Given the description of an element on the screen output the (x, y) to click on. 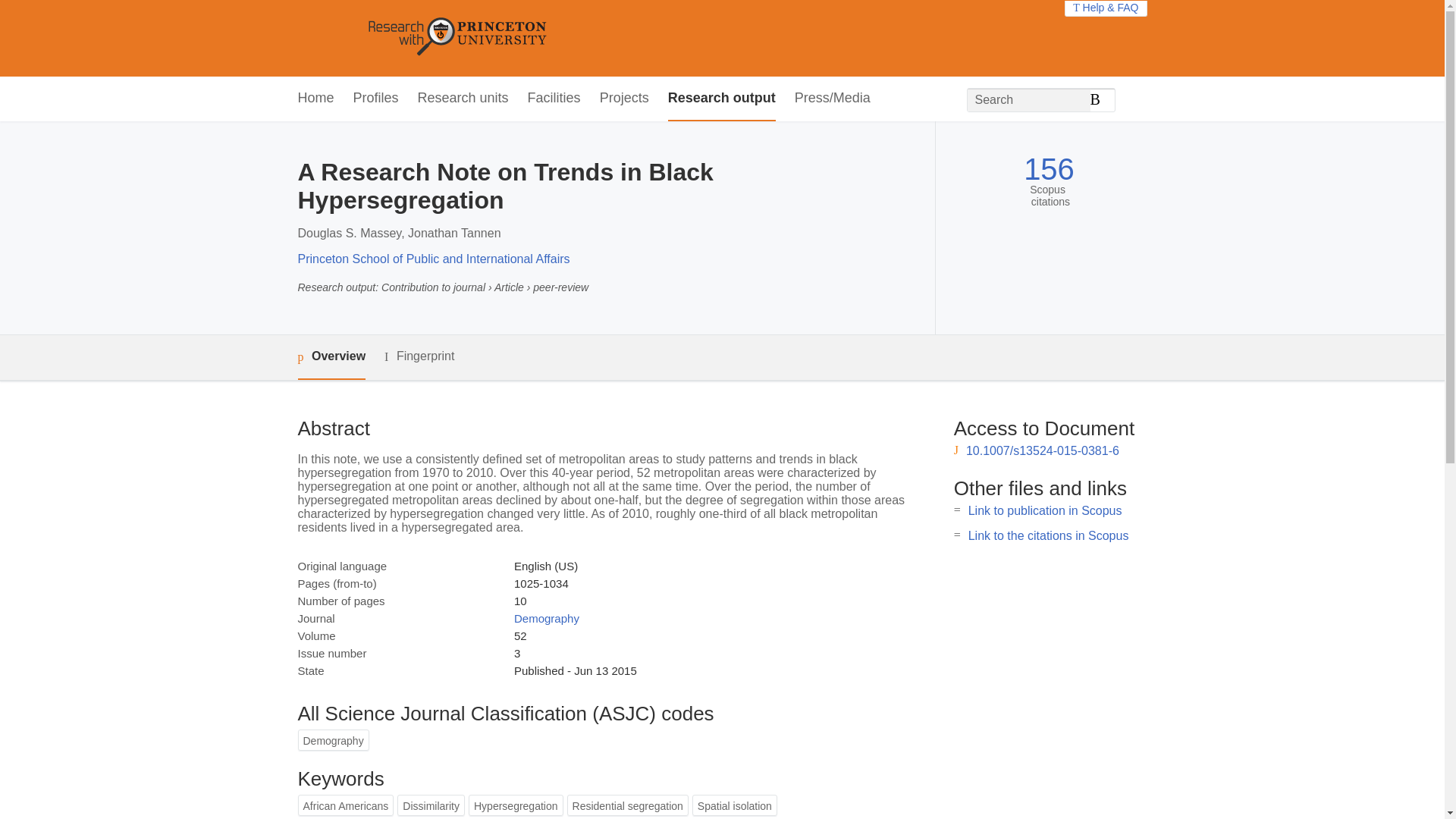
Overview (331, 357)
Research output (722, 98)
Profiles (375, 98)
Home (315, 98)
Demography (546, 617)
156 (1048, 169)
Link to publication in Scopus (1045, 510)
Link to the citations in Scopus (1048, 535)
Princeton University Home (567, 38)
Projects (624, 98)
Princeton School of Public and International Affairs (433, 258)
Fingerprint (419, 356)
Facilities (553, 98)
Research units (462, 98)
